Given the description of an element on the screen output the (x, y) to click on. 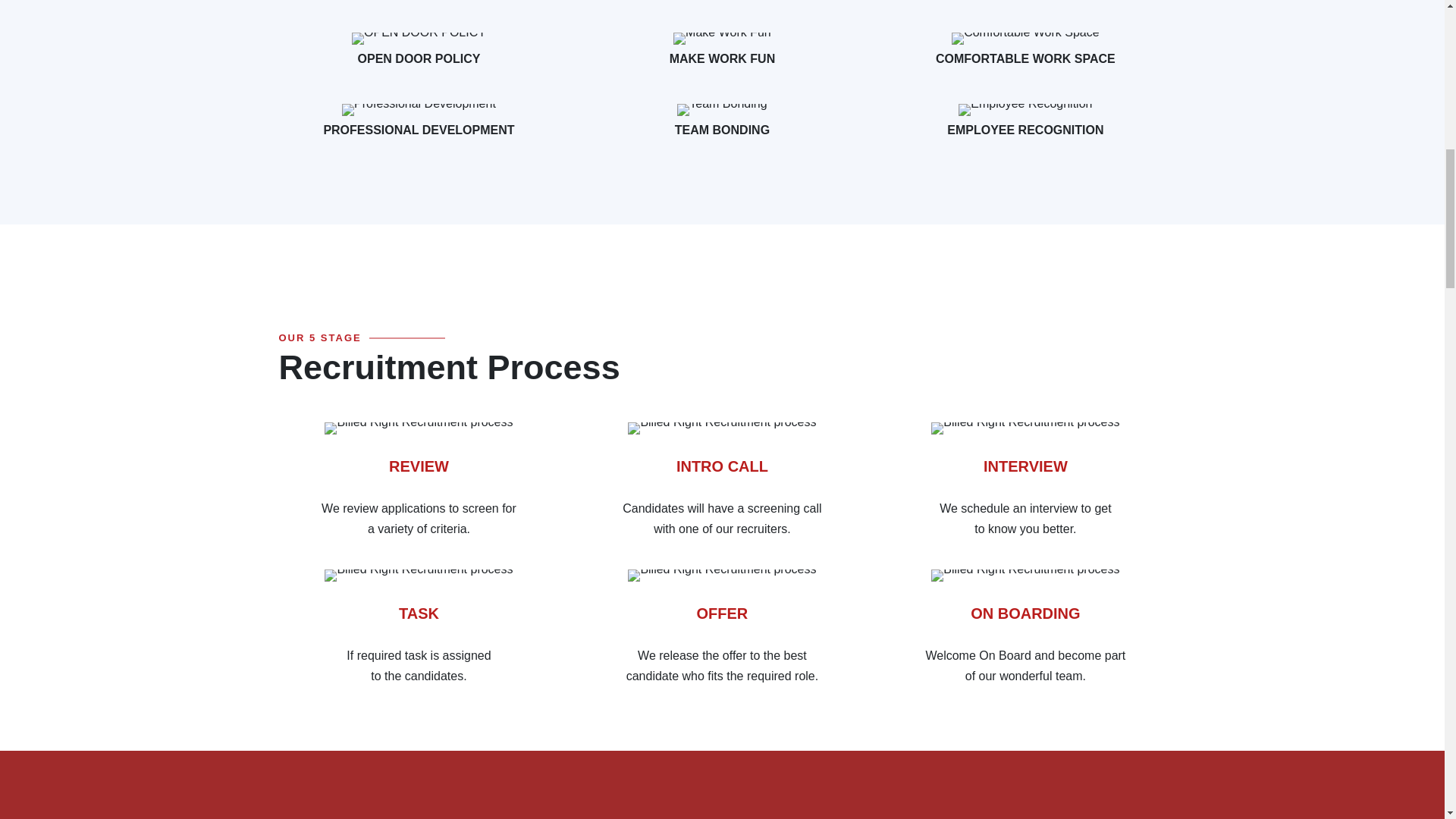
Professional-Development (419, 110)
Make-Work-Fun (721, 38)
Billed Right Recruitment process (721, 575)
Team-Bonding (722, 110)
OPEN DOOR POLICY (419, 38)
Comfortable-Work-Space (1025, 38)
Billed Right Recruitment process (1025, 575)
Billed Right Recruitment process (721, 428)
Billed Right Recruitment process (418, 428)
Billed Right Recruitment process (1025, 428)
Employee-Recognition (1025, 110)
Billed Right Recruitment process (418, 575)
